Given the description of an element on the screen output the (x, y) to click on. 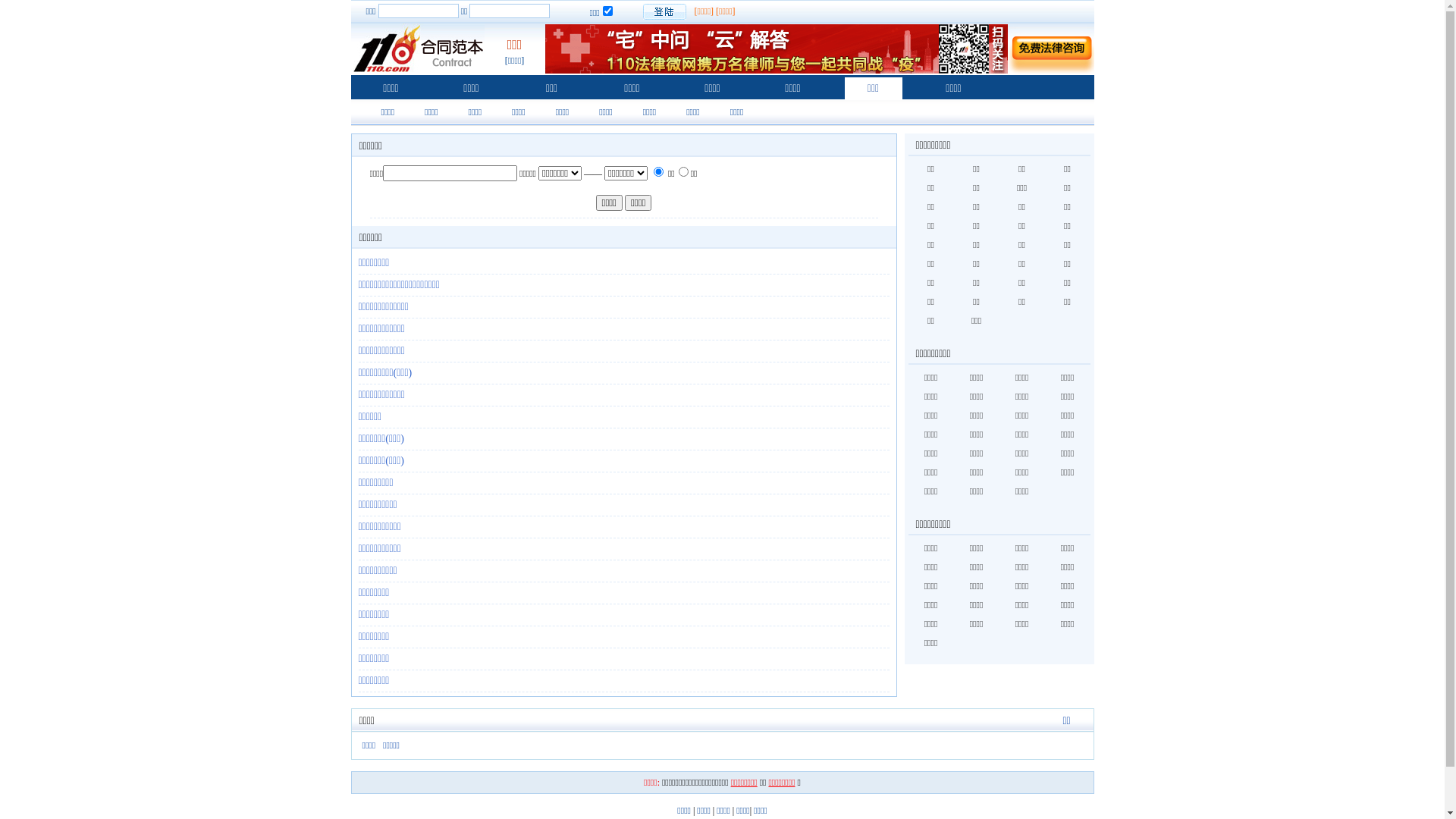
0 Element type: text (658, 171)
1 Element type: text (683, 171)
